Given the description of an element on the screen output the (x, y) to click on. 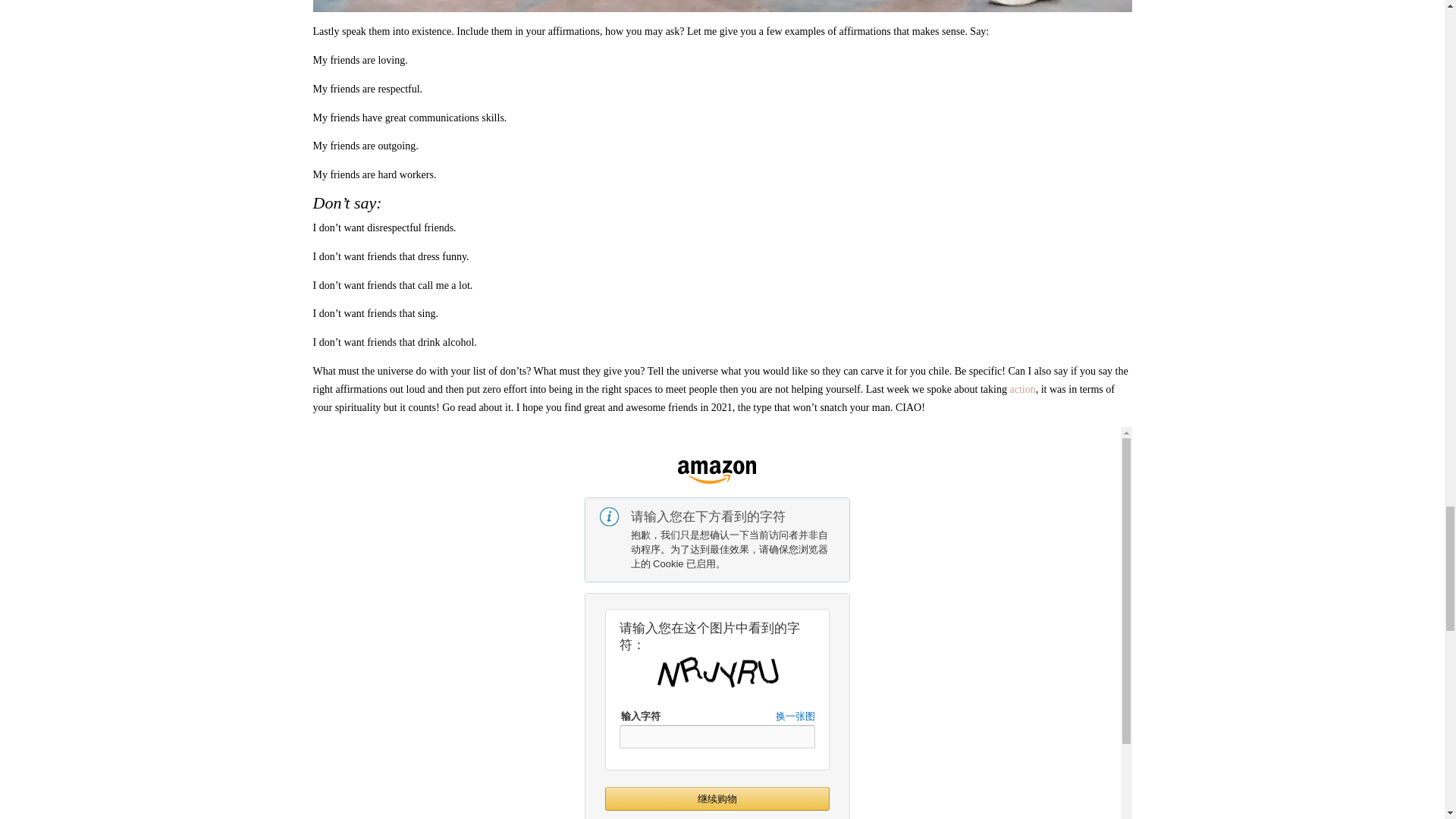
action (1022, 389)
